Given the description of an element on the screen output the (x, y) to click on. 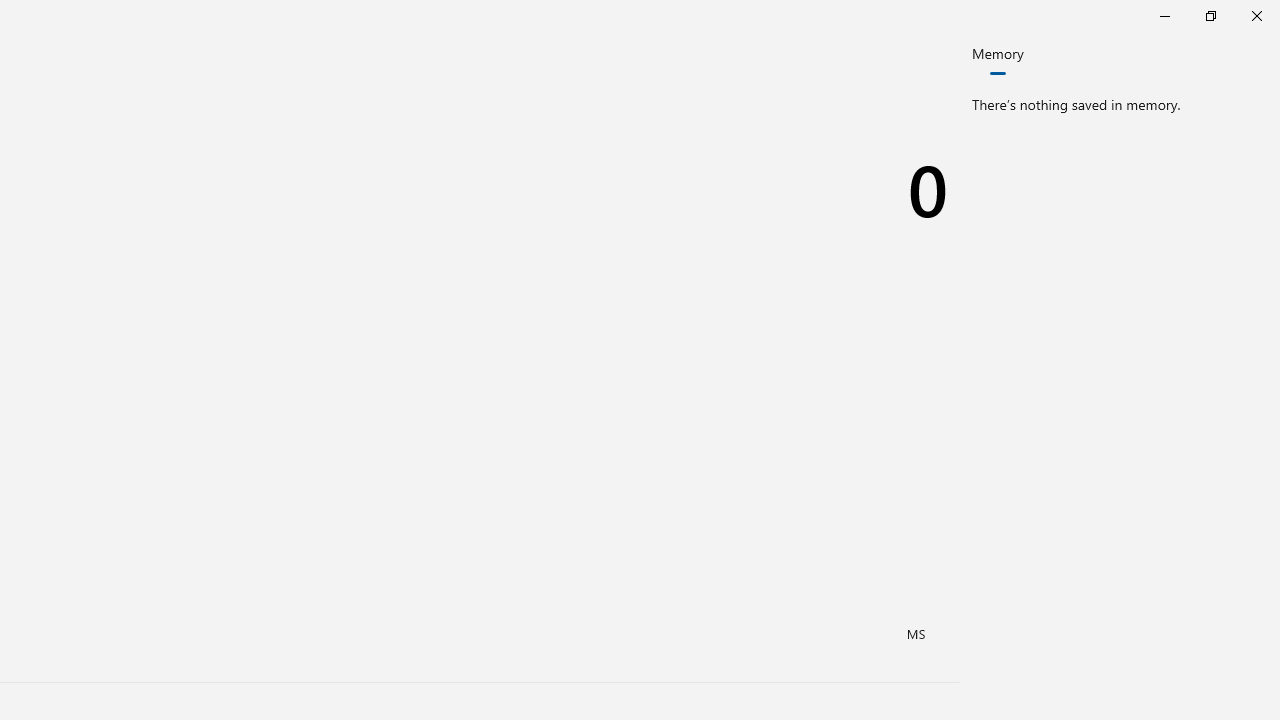
Memory store (917, 634)
Close Calculator (1256, 15)
Restore Calculator (1210, 15)
Minimize Calculator (1164, 15)
